Given the description of an element on the screen output the (x, y) to click on. 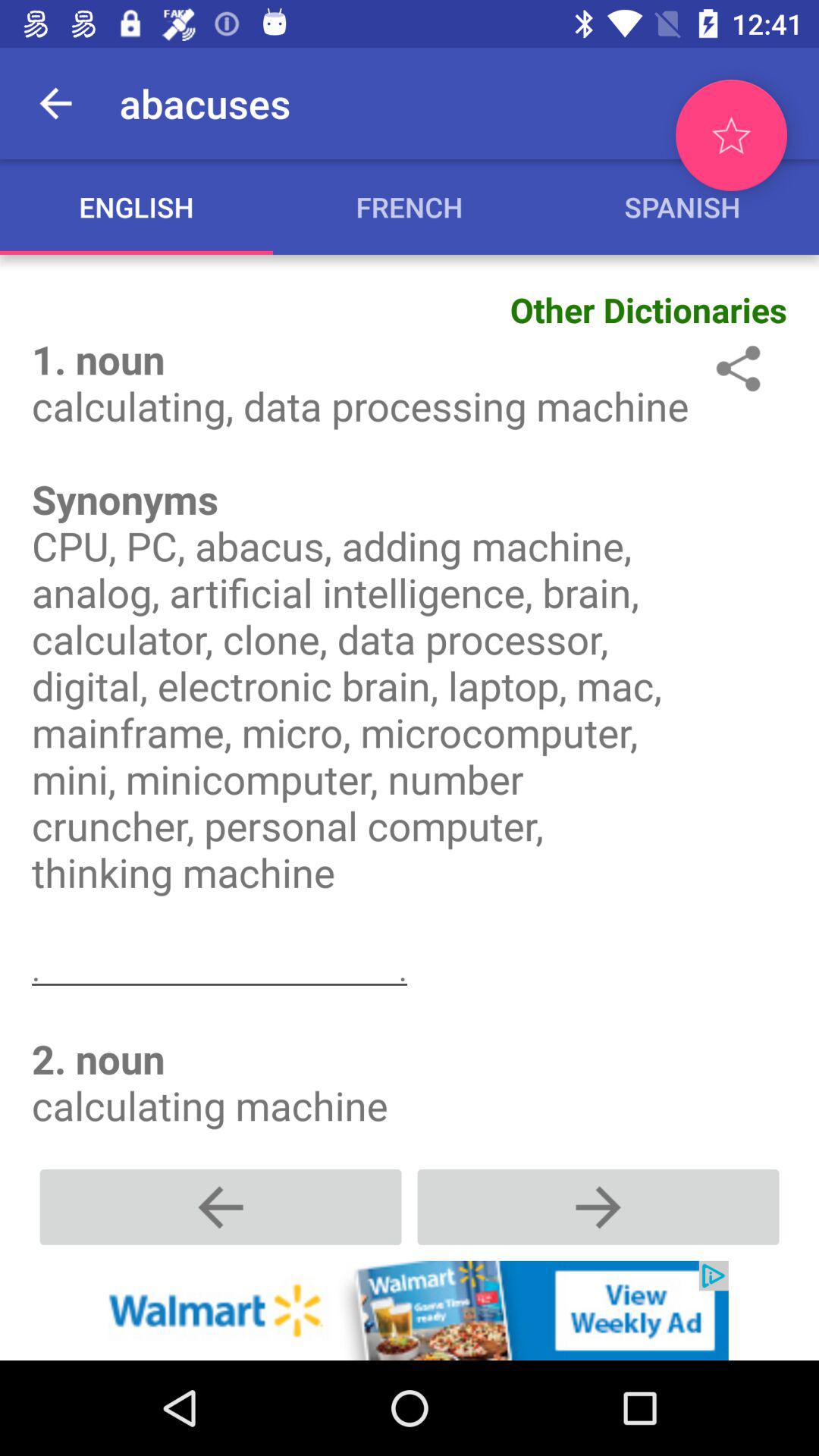
this is an advertisement (409, 1310)
